Given the description of an element on the screen output the (x, y) to click on. 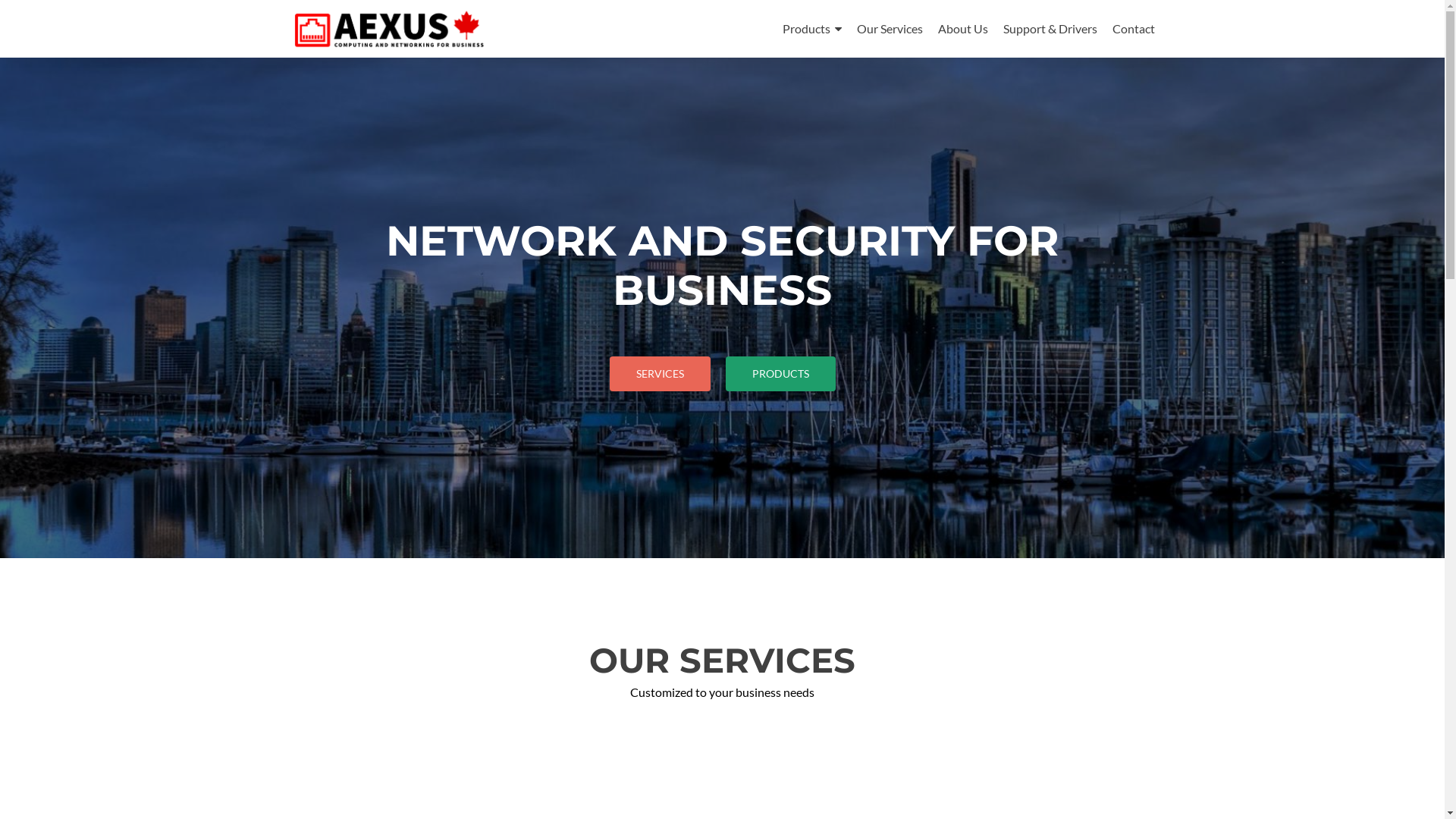
Our Services Element type: text (889, 28)
Products Element type: text (811, 28)
Support & Drivers Element type: text (1049, 28)
PRODUCTS Element type: text (779, 373)
SERVICES Element type: text (659, 373)
Contact Element type: text (1132, 28)
About Us Element type: text (962, 28)
